Given the description of an element on the screen output the (x, y) to click on. 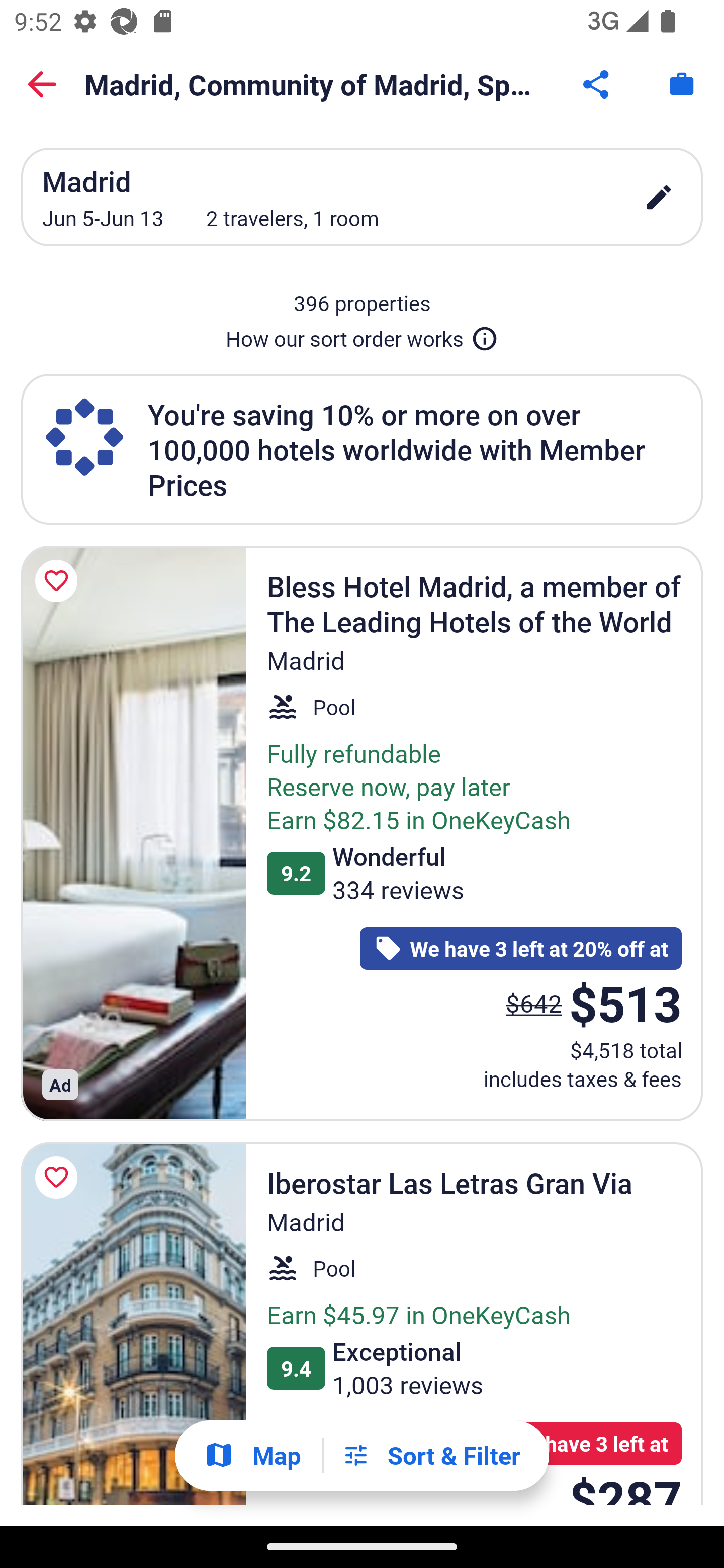
Back (42, 84)
Share Button (597, 84)
Trips. Button (681, 84)
Madrid Jun 5-Jun 13 2 travelers, 1 room edit (361, 196)
How our sort order works (361, 334)
$642 The price was $642 (533, 1003)
Save Iberostar Las Letras Gran Via to a trip (59, 1177)
Iberostar Las Letras Gran Via (133, 1324)
Filters Sort & Filter Filters Button (430, 1455)
Show map Map Show map Button (252, 1455)
